Given the description of an element on the screen output the (x, y) to click on. 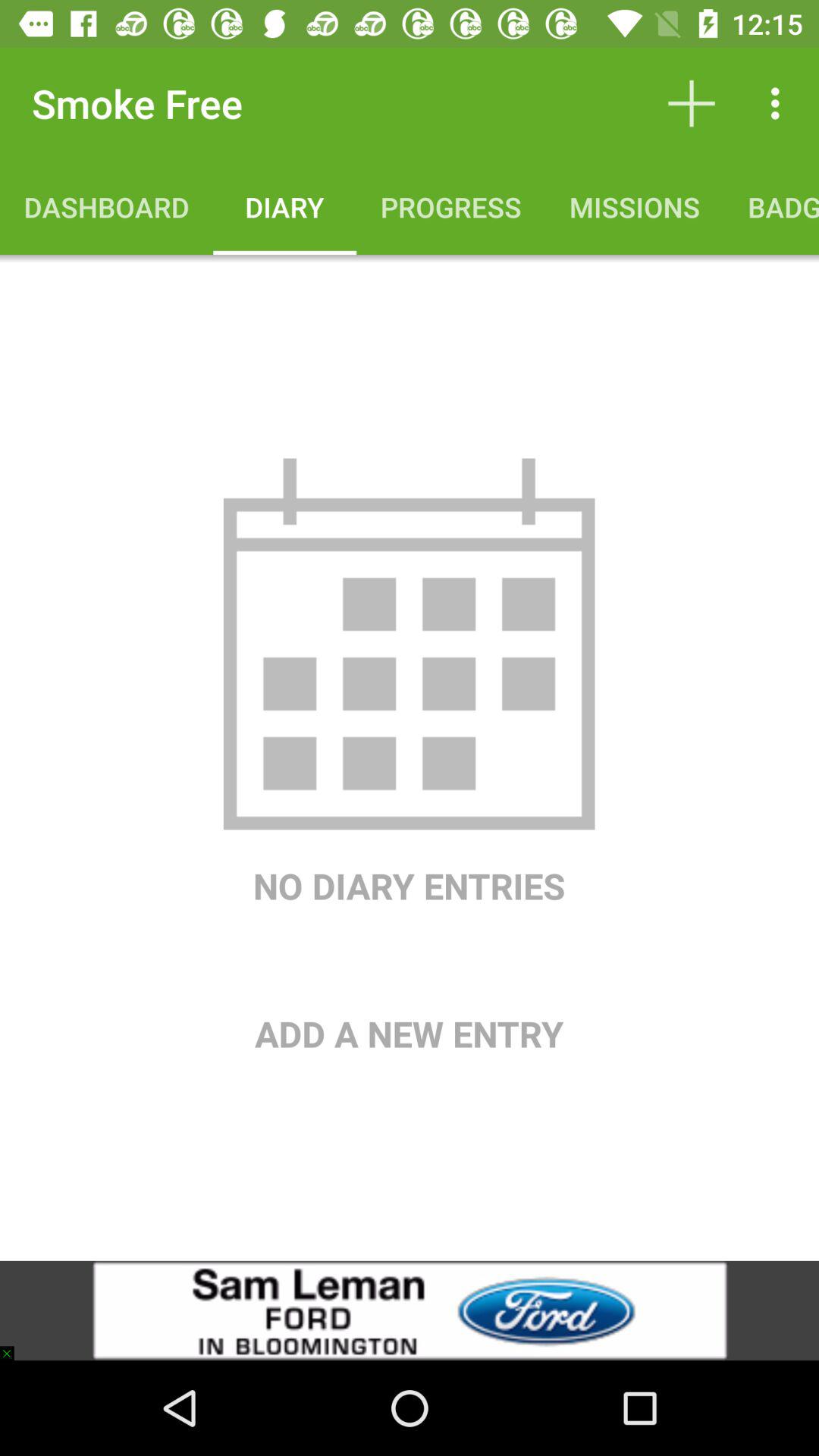
choose item above the badges icon (779, 103)
